Given the description of an element on the screen output the (x, y) to click on. 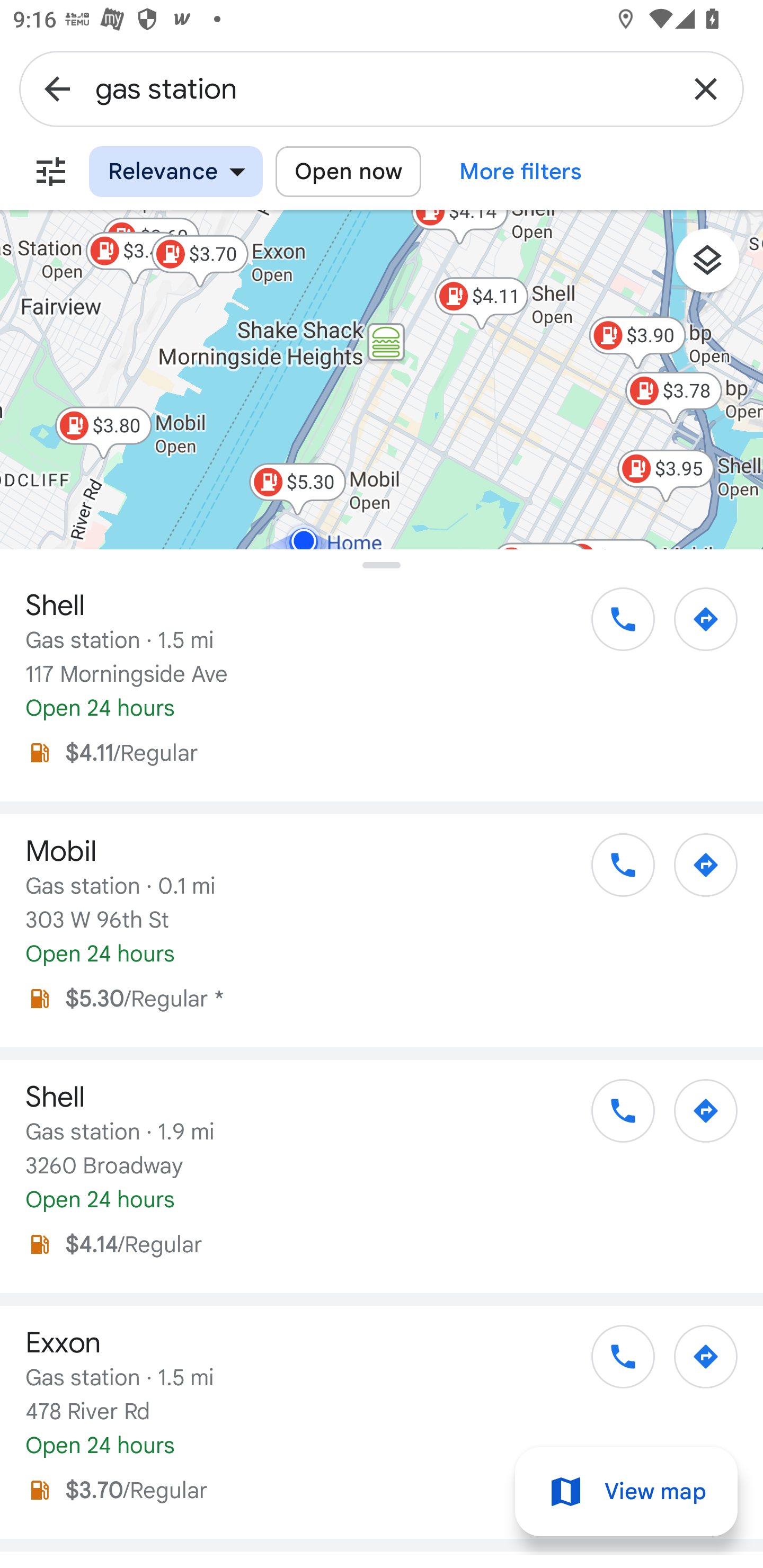
Back (57, 88)
gas station (381, 88)
Clear (705, 88)
More filters (50, 171)
Relevance Relevance Relevance (175, 171)
Open now Open now Open now (348, 171)
More filters More filters More filters (521, 171)
Layers (716, 267)
Call Shell, 117 Morningside Ave (613, 625)
Directions to Shell, 117 Morningside Ave (695, 625)
Call Mobil, 303 W 96th St (613, 870)
Directions to Mobil, 303 W 96th St (695, 870)
Call Shell, 3260 Broadway (613, 1116)
Directions to Shell, 3260 Broadway (695, 1116)
Call Exxon, 478 River Rd (613, 1362)
Directions to Exxon, 478 River Rd (695, 1362)
View map Map view (626, 1491)
